Given the description of an element on the screen output the (x, y) to click on. 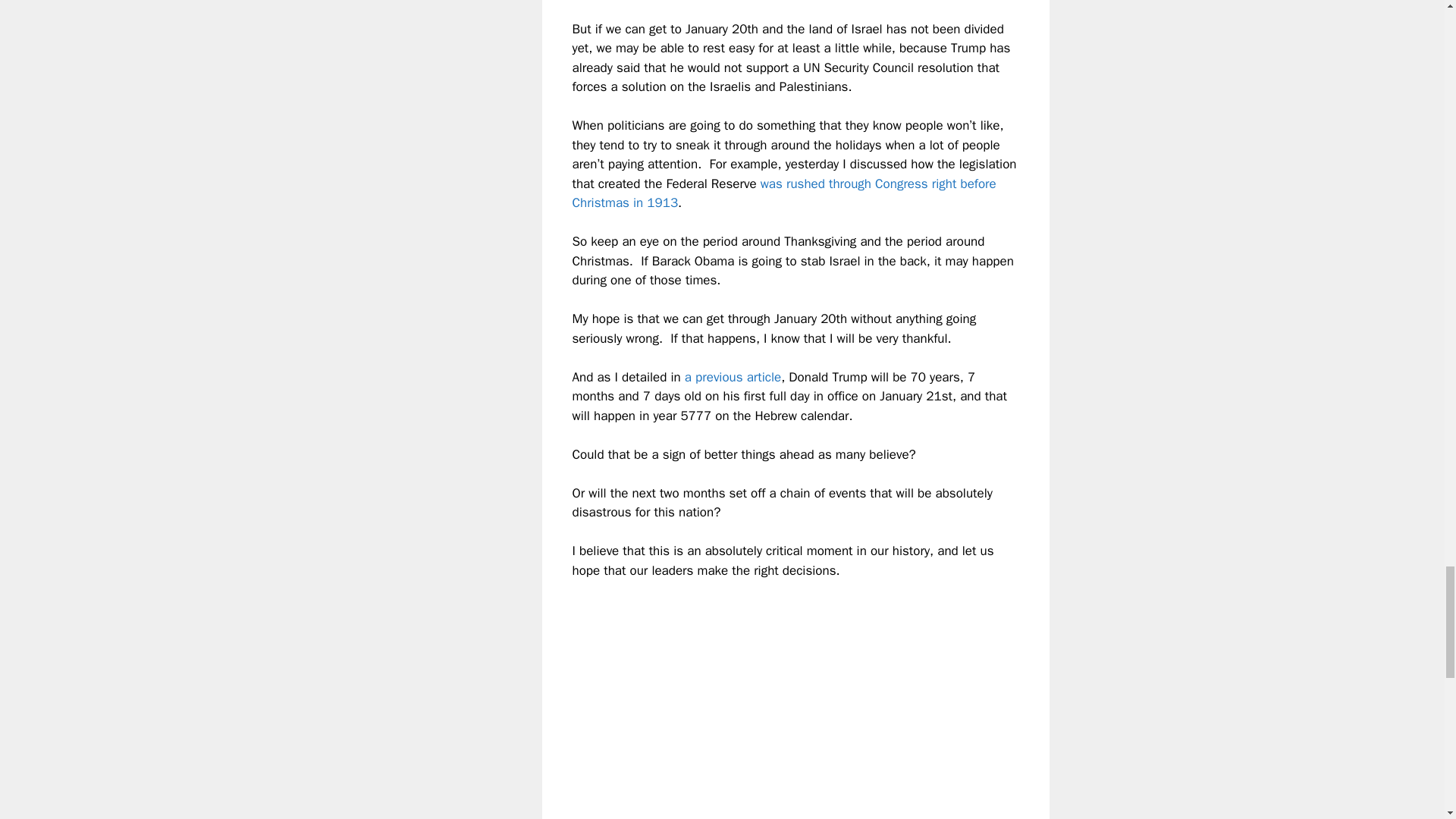
was rushed through Congress right before Christmas in 1913 (783, 193)
a previous article (732, 376)
